Given the description of an element on the screen output the (x, y) to click on. 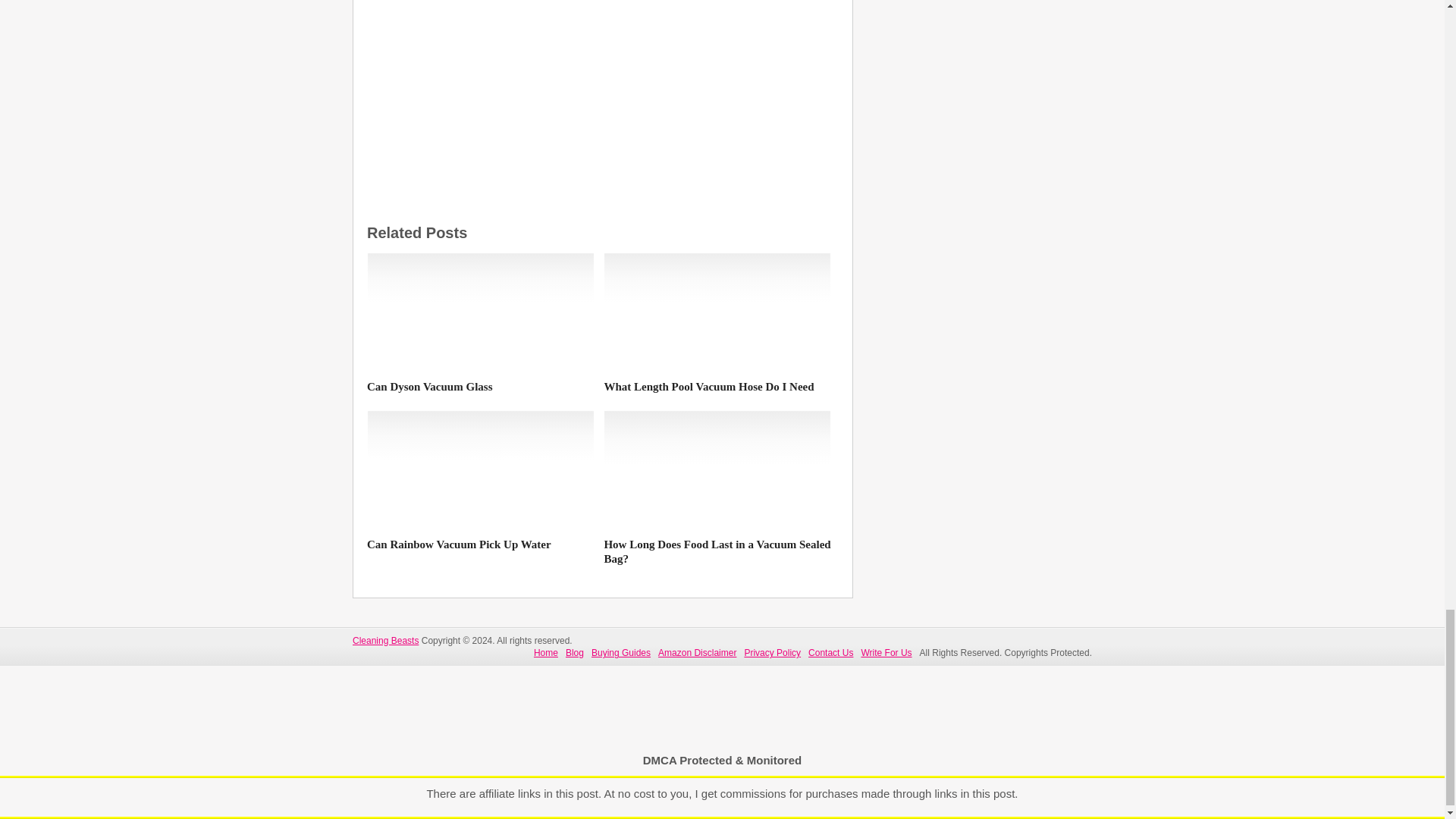
Can Dyson Vacuum Glass (480, 387)
How to clean hair stuck under your vacuum (601, 70)
What Length Pool Vacuum Hose Do I Need (717, 387)
What Length Pool Vacuum Hose Do I Need (717, 312)
Can Dyson Vacuum Glass (480, 312)
Can Rainbow Vacuum Pick Up Water (480, 470)
